Given the description of an element on the screen output the (x, y) to click on. 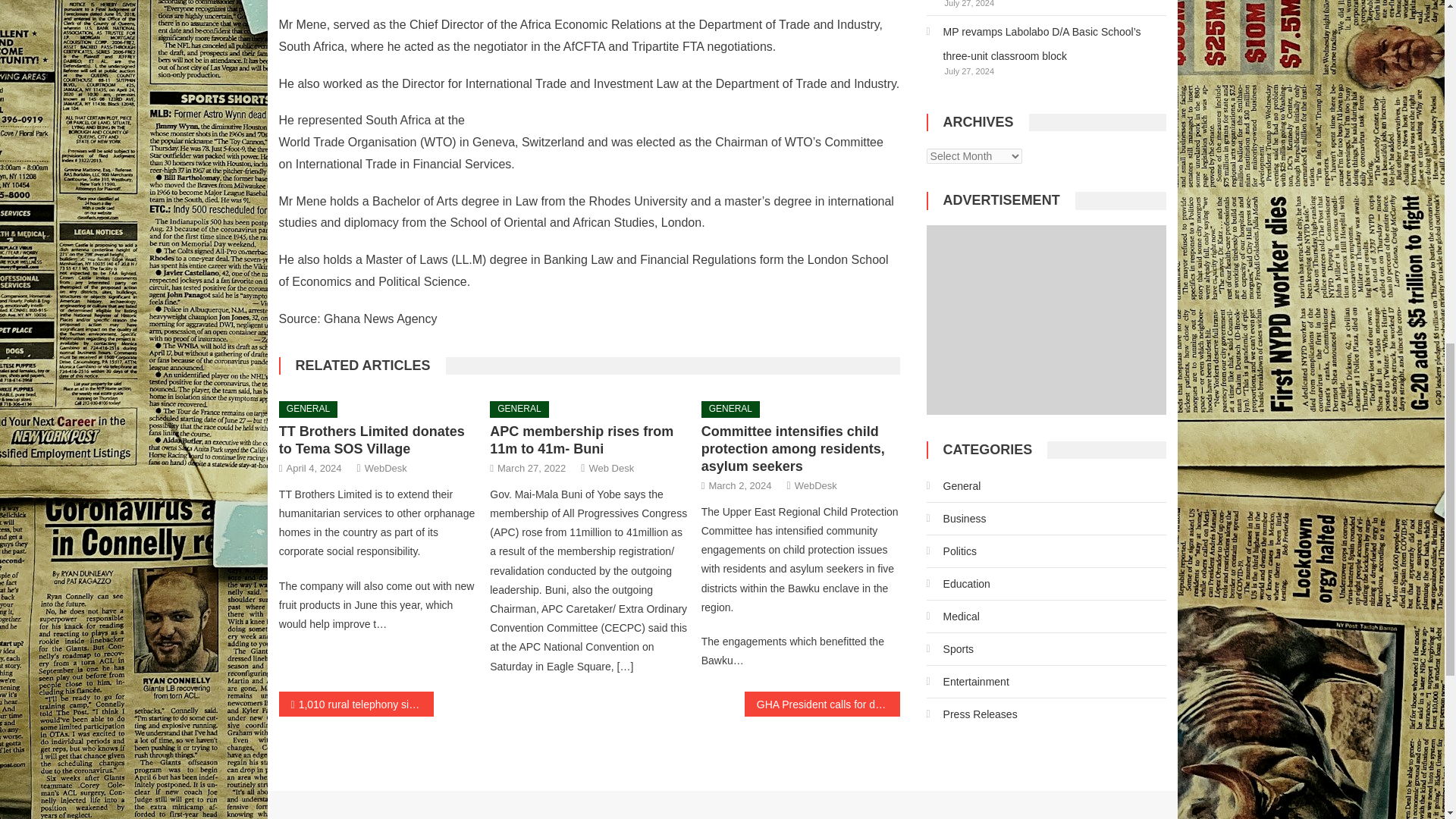
WebDesk (815, 485)
WebDesk (386, 467)
GENERAL (730, 409)
Web Desk (610, 467)
GENERAL (308, 409)
APC membership rises from 11m to 41m- Buni (580, 440)
April 4, 2024 (314, 467)
General (953, 485)
March 2, 2024 (739, 485)
TT Brothers Limited donates to Tema SOS Village (371, 440)
GENERAL (518, 409)
March 27, 2022 (531, 467)
